Given the description of an element on the screen output the (x, y) to click on. 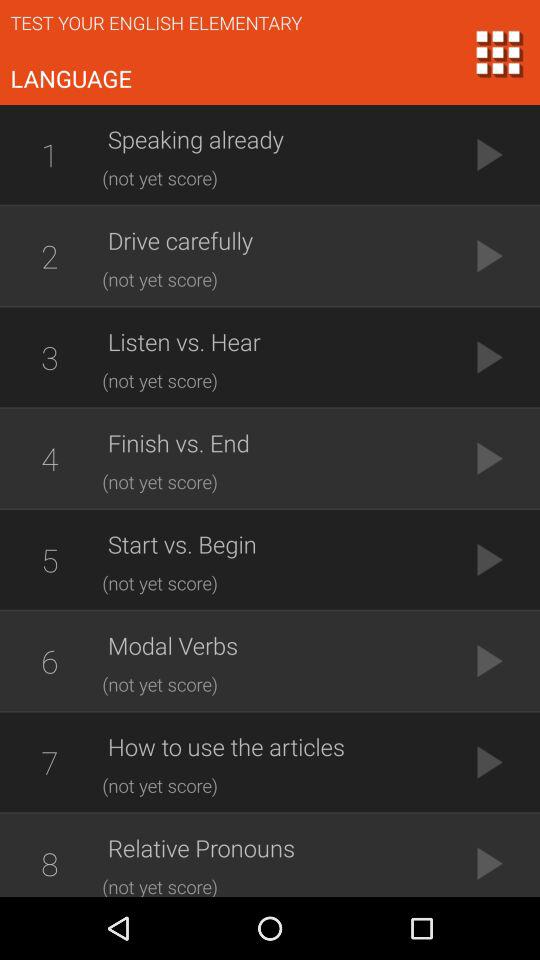
select icon next to  drive carefully (49, 256)
